Given the description of an element on the screen output the (x, y) to click on. 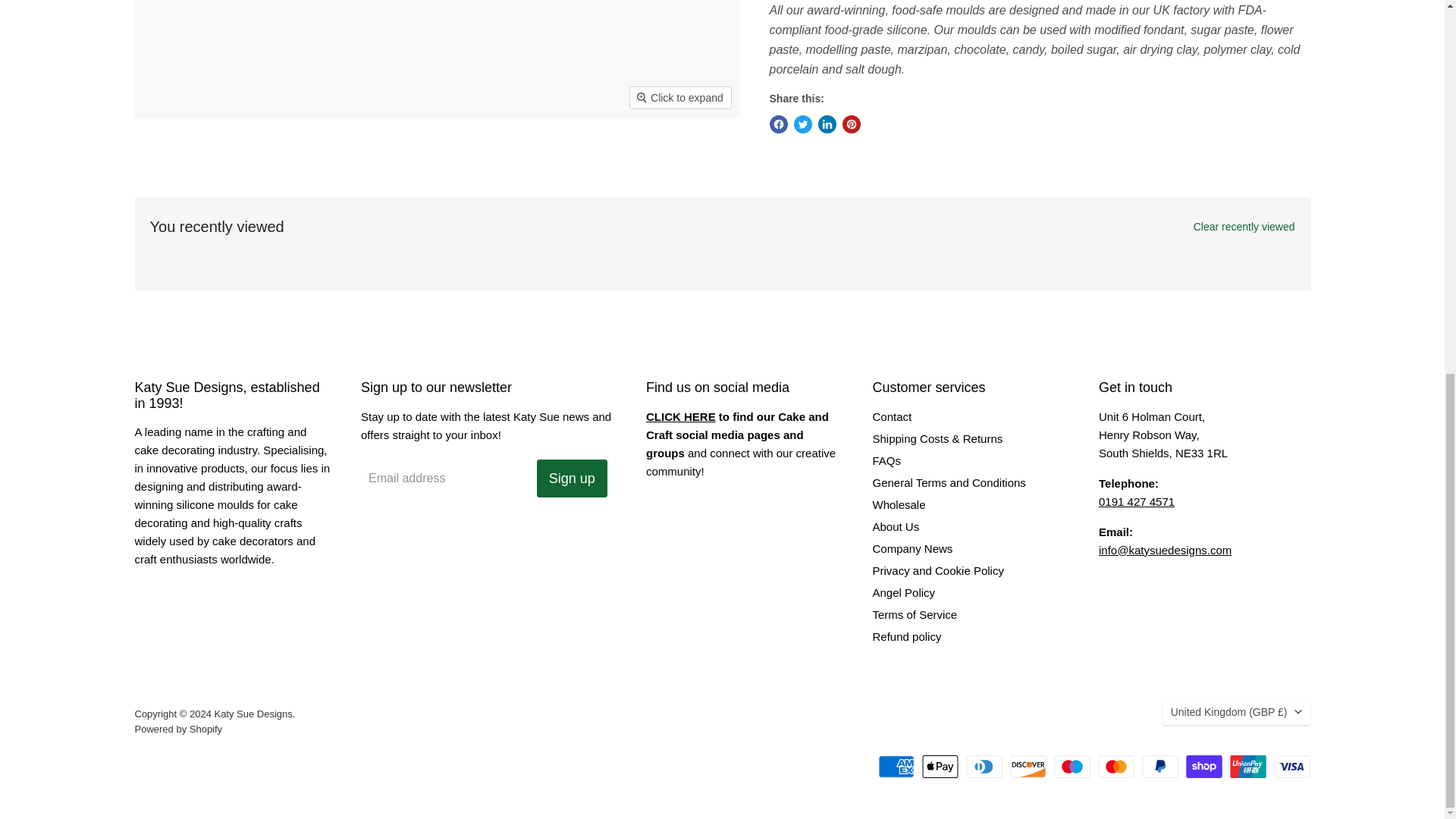
Social (681, 416)
American Express (895, 766)
tel:00441914274571 (1136, 501)
Apple Pay (939, 766)
